Given the description of an element on the screen output the (x, y) to click on. 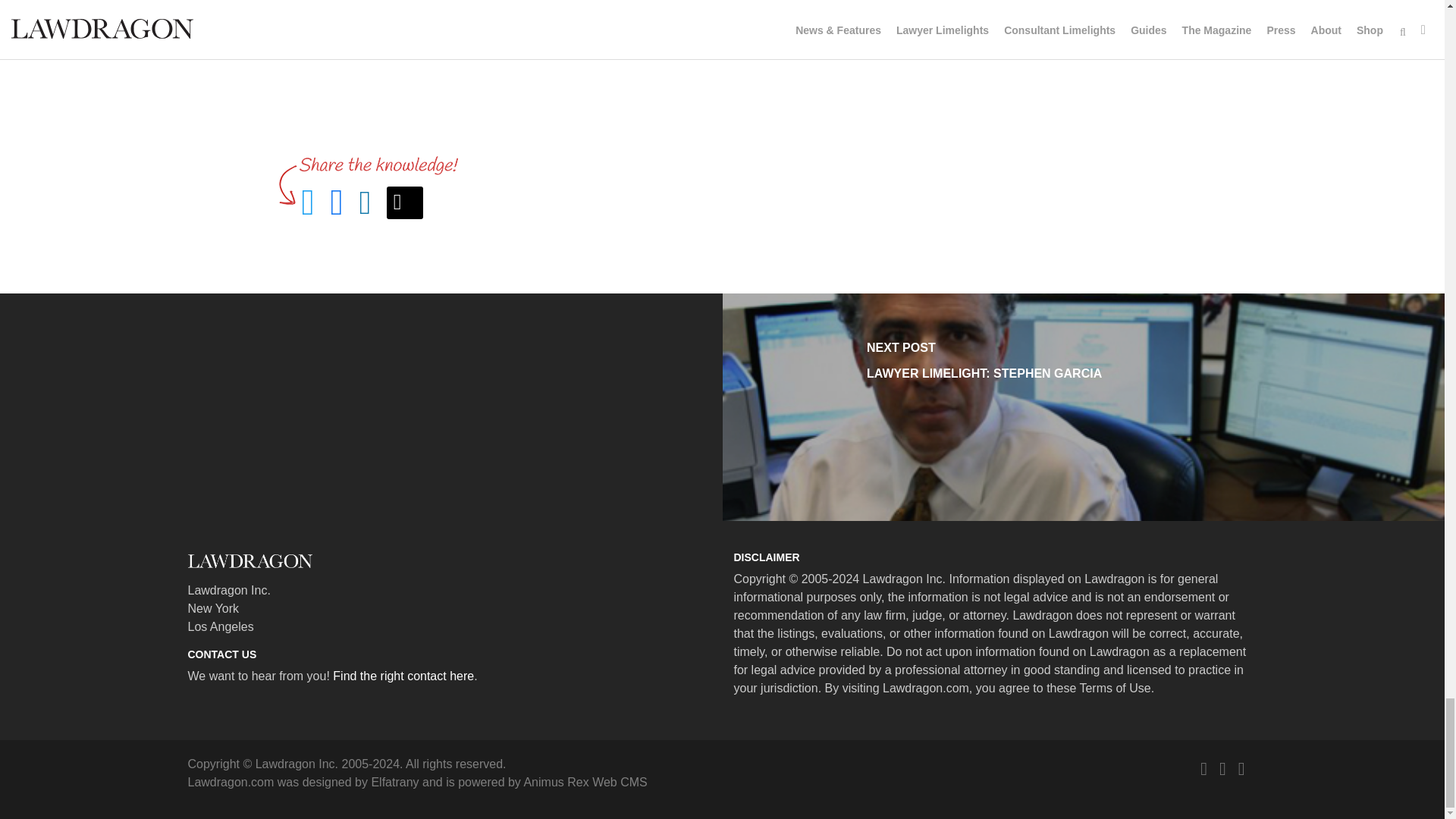
Twitter (1203, 768)
LinkedIn (1241, 768)
Elfatrany (395, 781)
Email (405, 202)
Facebook (1222, 768)
Animus Rex Web CMS (584, 781)
Find the right contact here (403, 675)
